Given the description of an element on the screen output the (x, y) to click on. 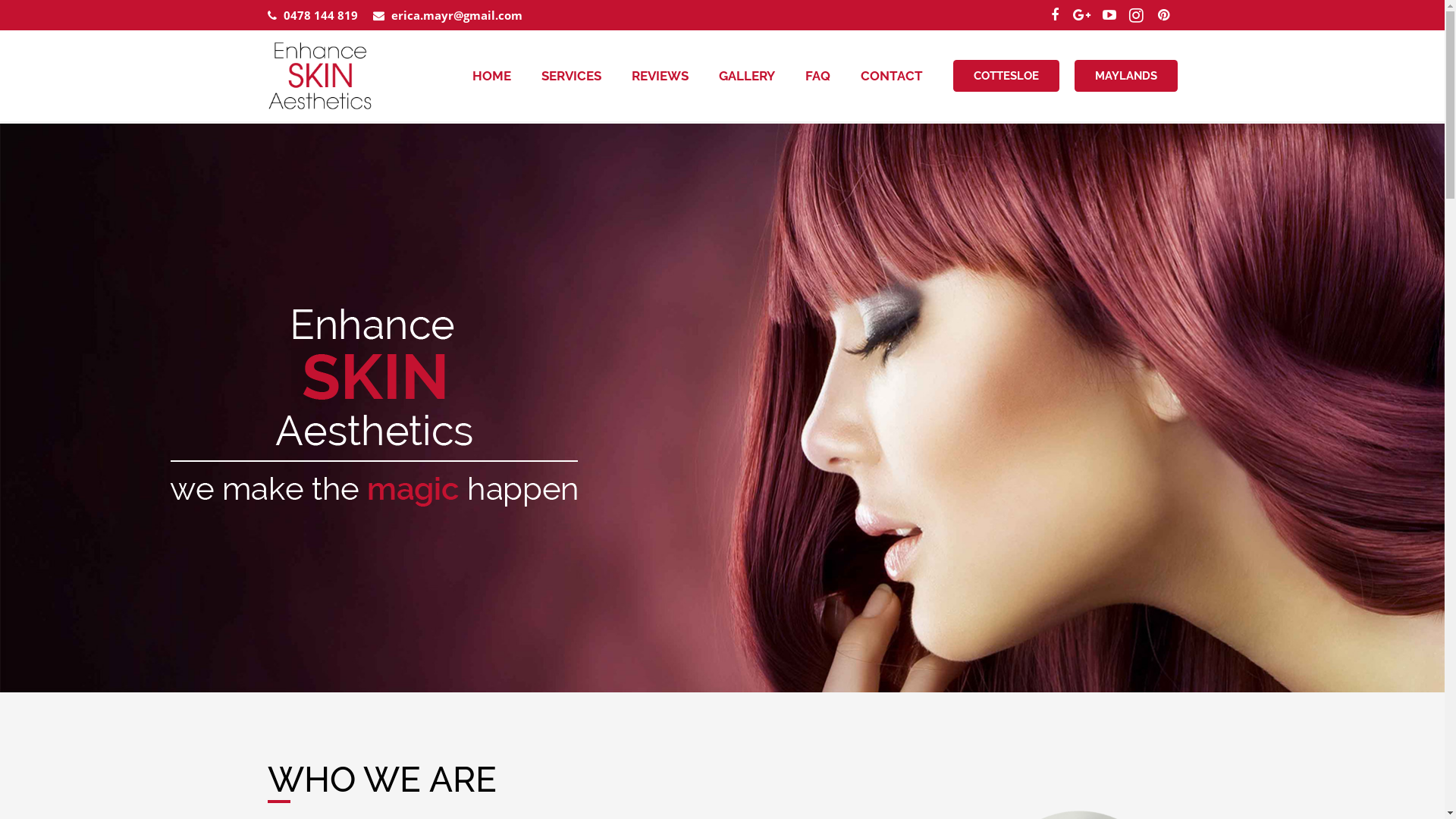
SERVICES Element type: text (571, 75)
0478 144 819 Element type: text (320, 14)
CONTACT Element type: text (891, 75)
MAYLANDS Element type: text (1125, 75)
GALLERY Element type: text (746, 75)
erica.mayr@gmail.com Element type: text (456, 14)
REVIEWS Element type: text (659, 75)
HOME Element type: text (491, 75)
FAQ Element type: text (817, 75)
COTTESLOE Element type: text (1006, 75)
